Given the description of an element on the screen output the (x, y) to click on. 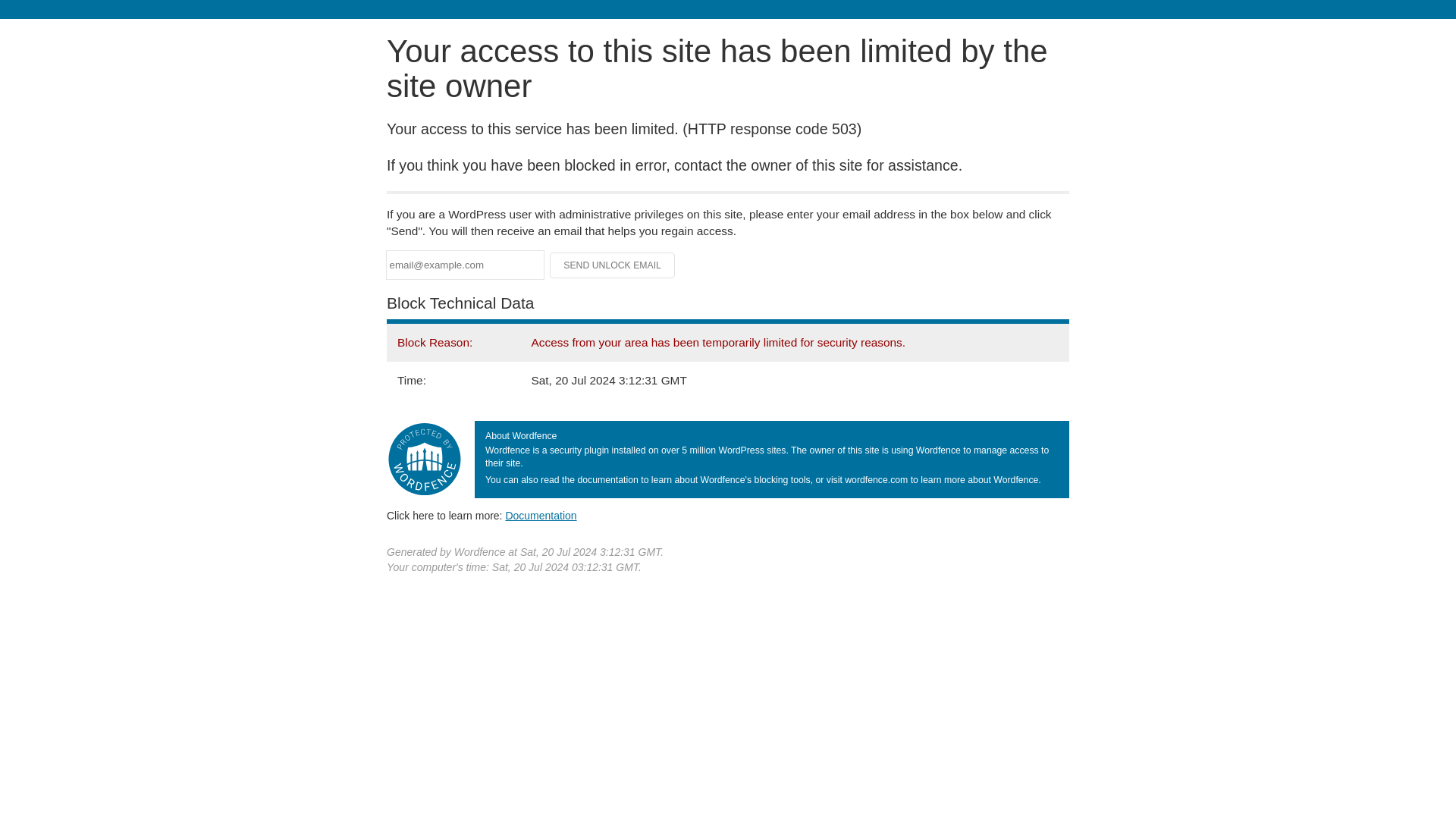
Send Unlock Email (612, 265)
Documentation (540, 515)
Send Unlock Email (612, 265)
